Given the description of an element on the screen output the (x, y) to click on. 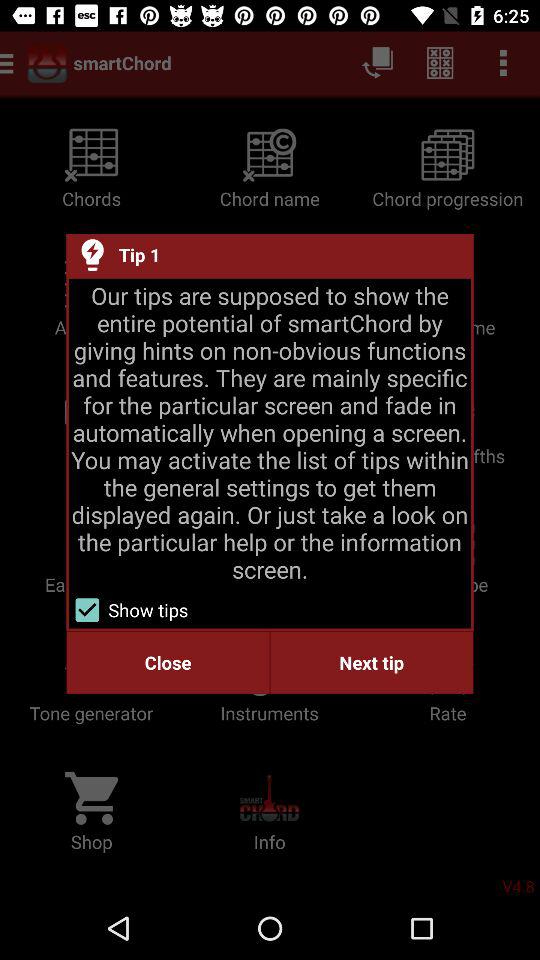
launch item at the bottom left corner (168, 662)
